Given the description of an element on the screen output the (x, y) to click on. 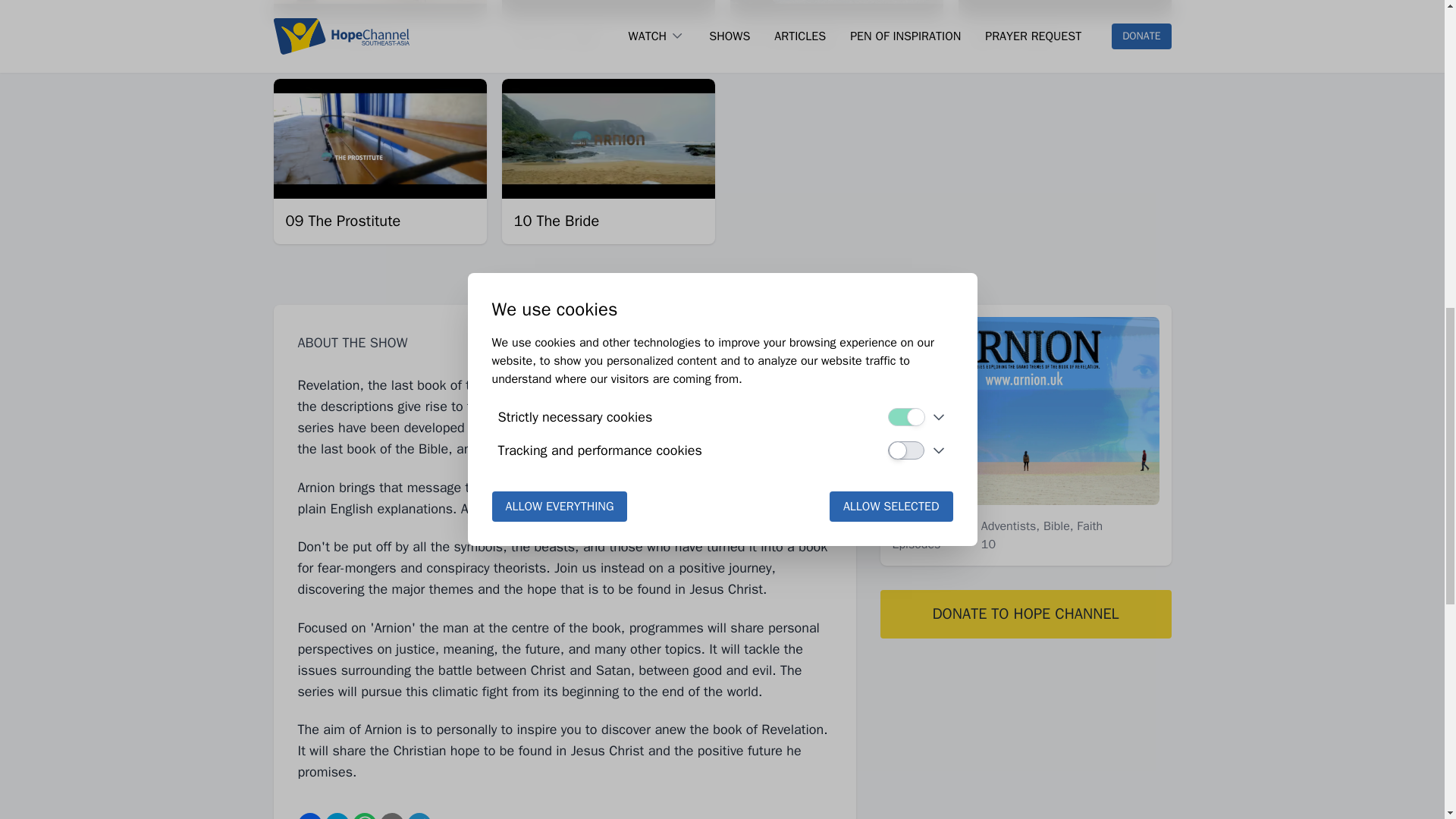
05 The Throne (333, 40)
07 The Animal (789, 40)
06 The Lamb (557, 40)
